Given the description of an element on the screen output the (x, y) to click on. 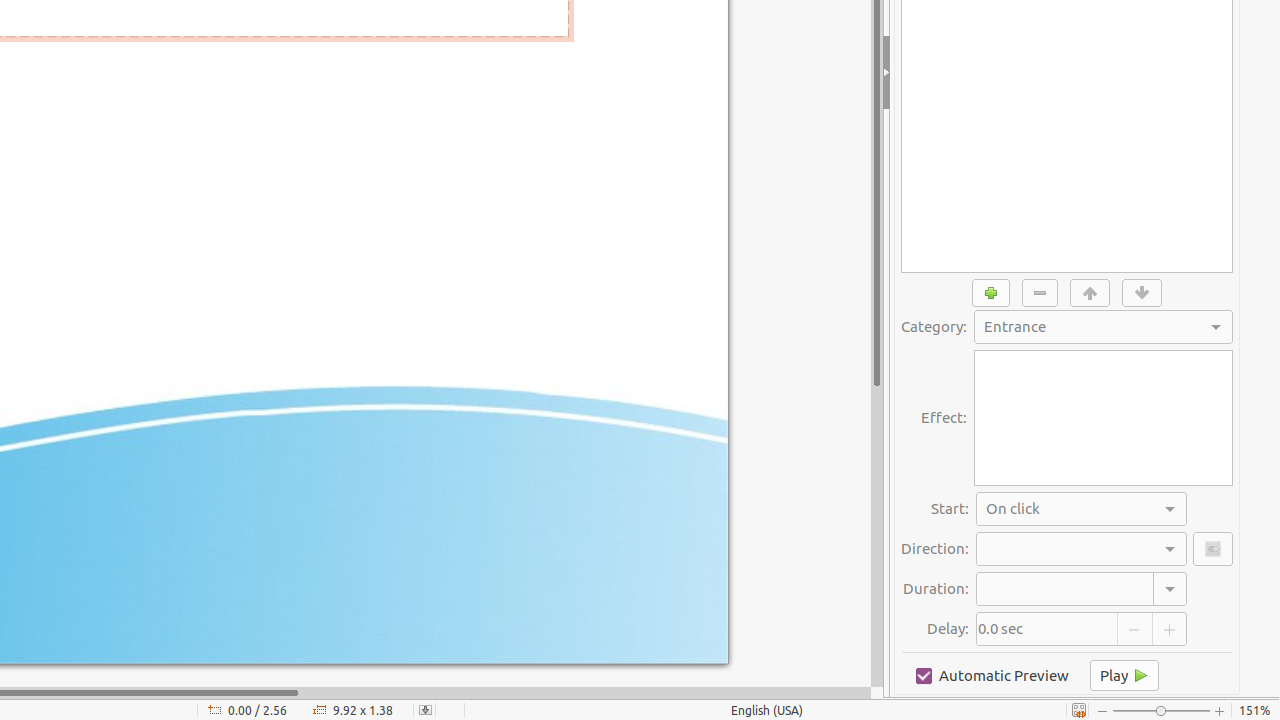
Start: Element type: combo-box (1081, 509)
Category: Element type: combo-box (1103, 327)
Remove Effect Element type: push-button (1040, 293)
Add Effect Element type: push-button (991, 293)
Duration: Element type: combo-box (1081, 589)
